Given the description of an element on the screen output the (x, y) to click on. 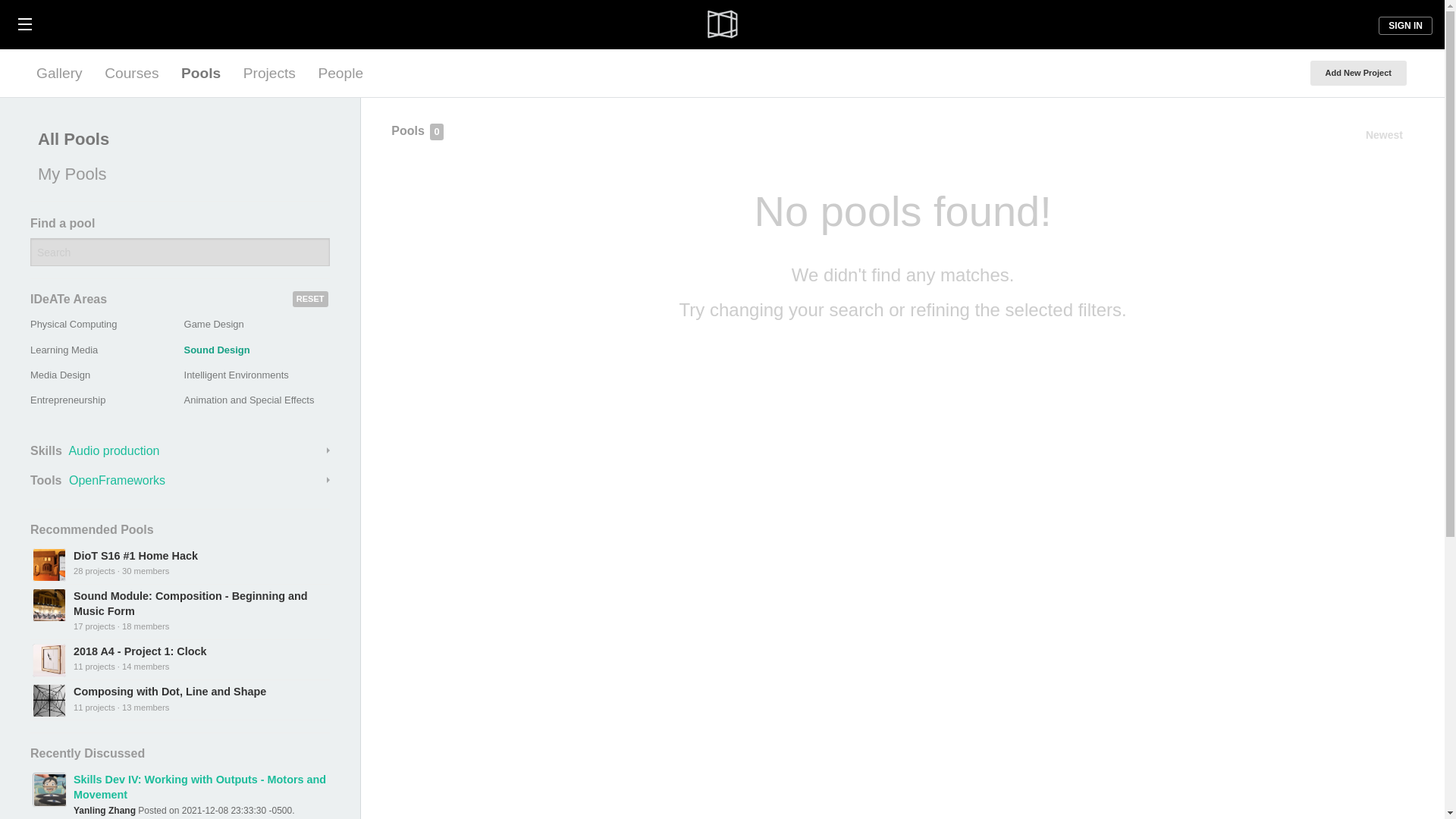
My Pools (175, 174)
Projects (268, 73)
Physical Computing (73, 324)
Pools (200, 73)
Learning Media (63, 349)
Entrepreneurship (67, 399)
Skills Audio production (180, 451)
Intelligent Environments (236, 374)
SIGN IN (1405, 25)
Courses (131, 73)
Media Design (60, 374)
Game Design (214, 324)
Animation and Special Effects (249, 399)
Gallery (59, 73)
RESET (310, 299)
